Given the description of an element on the screen output the (x, y) to click on. 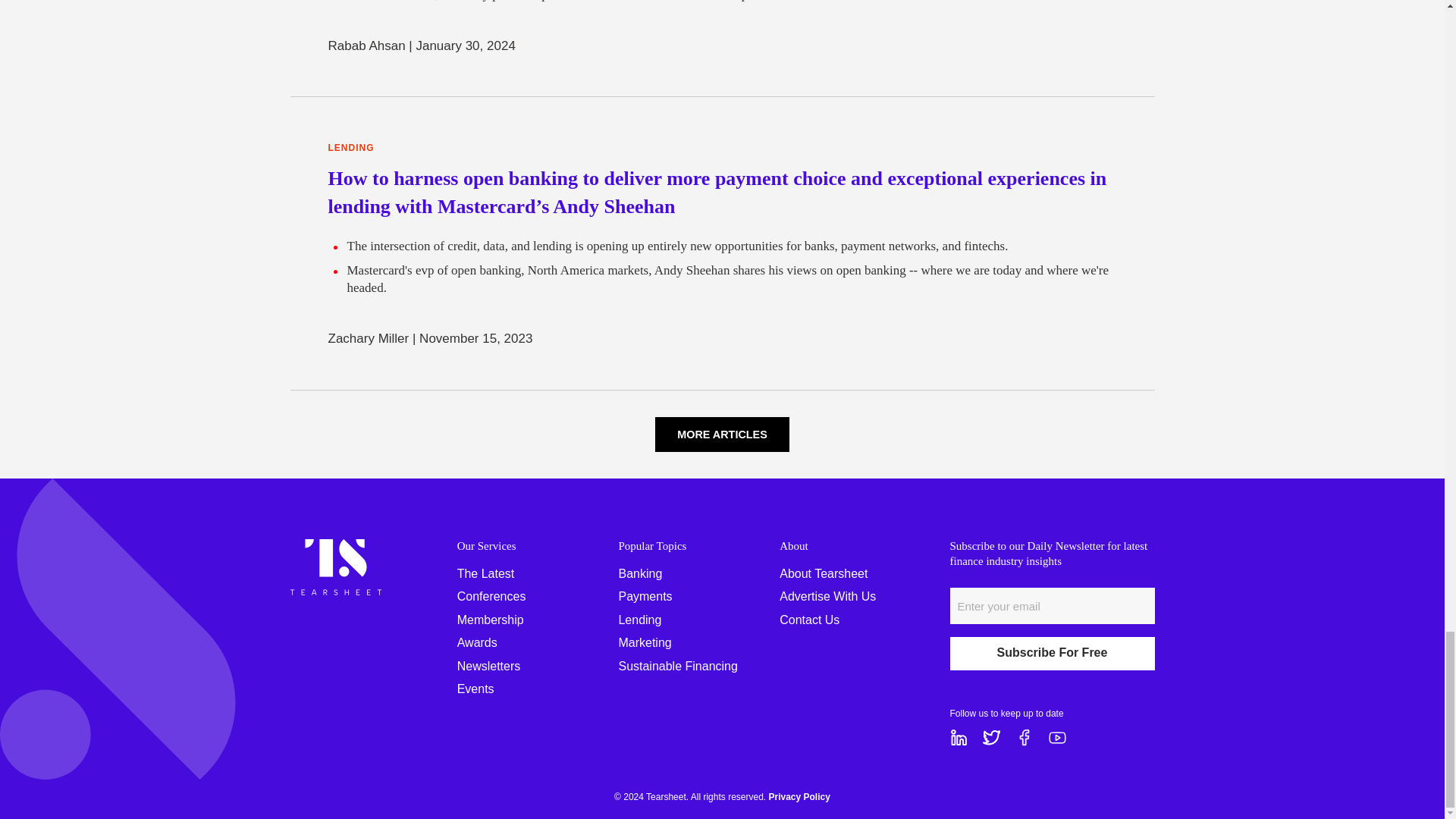
Lending (350, 148)
Tearsheet (334, 546)
More Articles (722, 434)
Privacy Policy (798, 796)
